Given the description of an element on the screen output the (x, y) to click on. 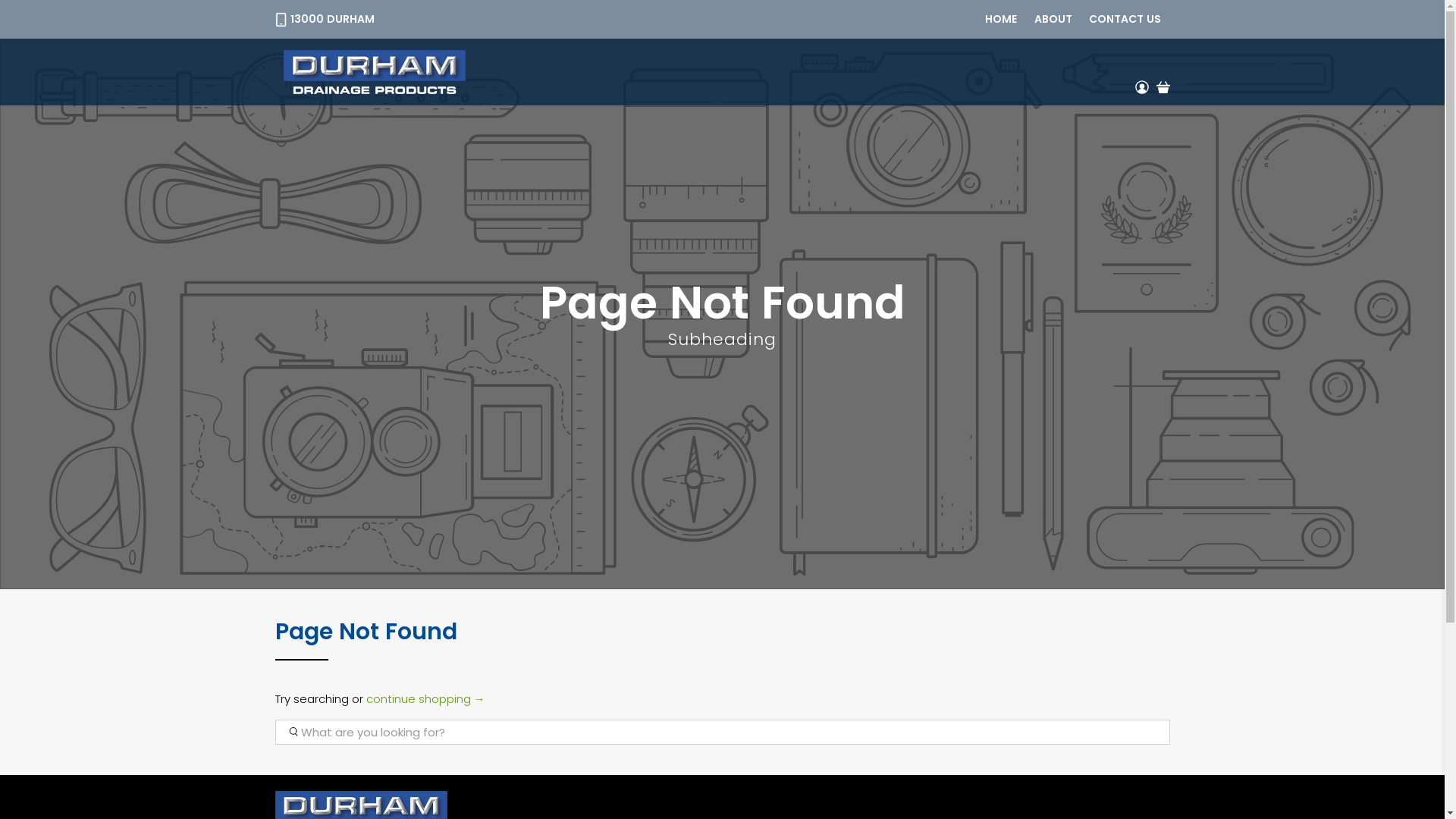
CONTACT US Element type: text (1125, 19)
Durham Element type: hover (374, 72)
HOME Element type: text (1001, 19)
ABOUT Element type: text (1052, 19)
